Given the description of an element on the screen output the (x, y) to click on. 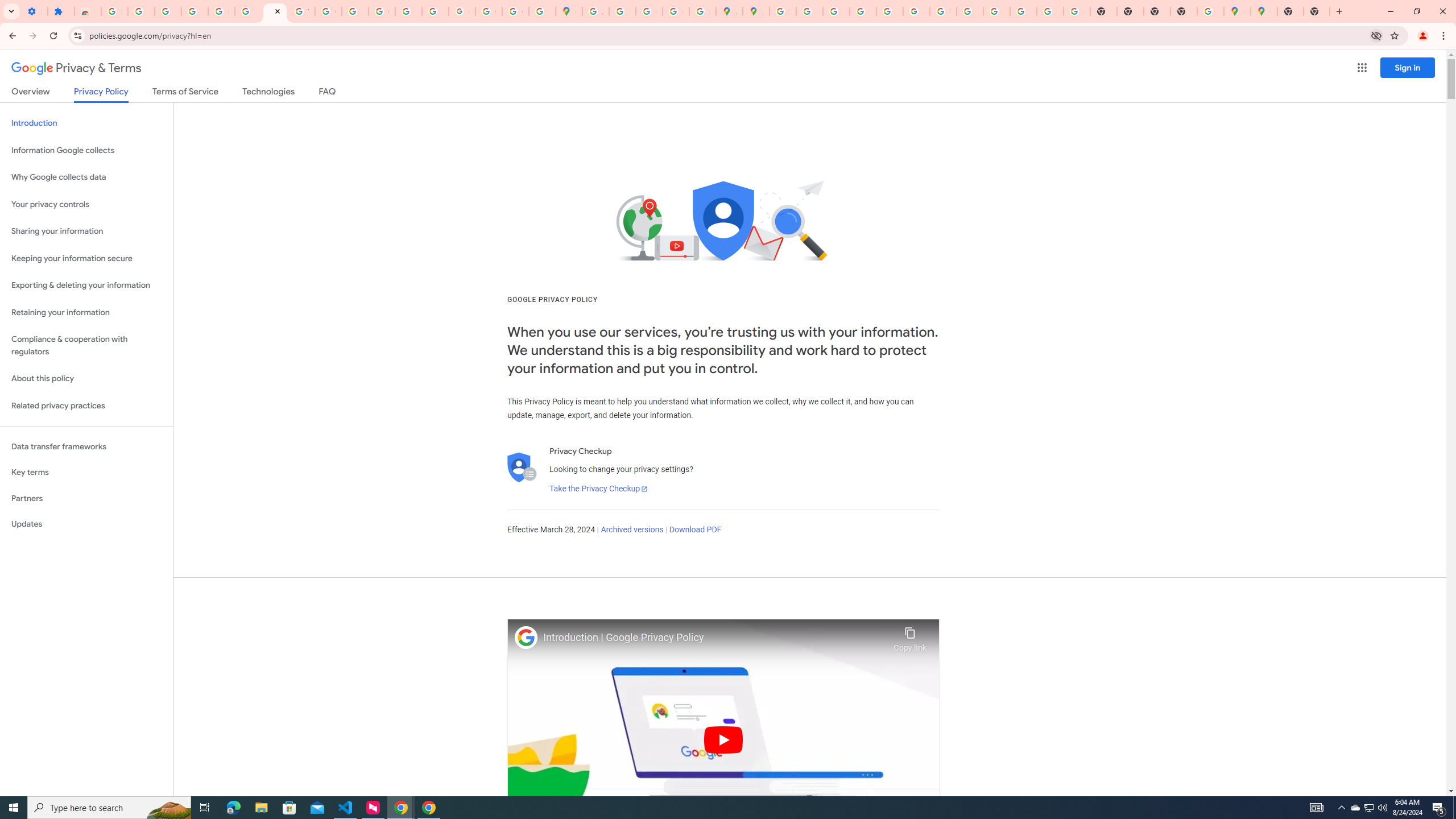
Reviews: Helix Fruit Jump Arcade Game (87, 11)
https://scholar.google.com/ (355, 11)
Privacy Help Center - Policies Help (862, 11)
Related privacy practices (86, 405)
